Given the description of an element on the screen output the (x, y) to click on. 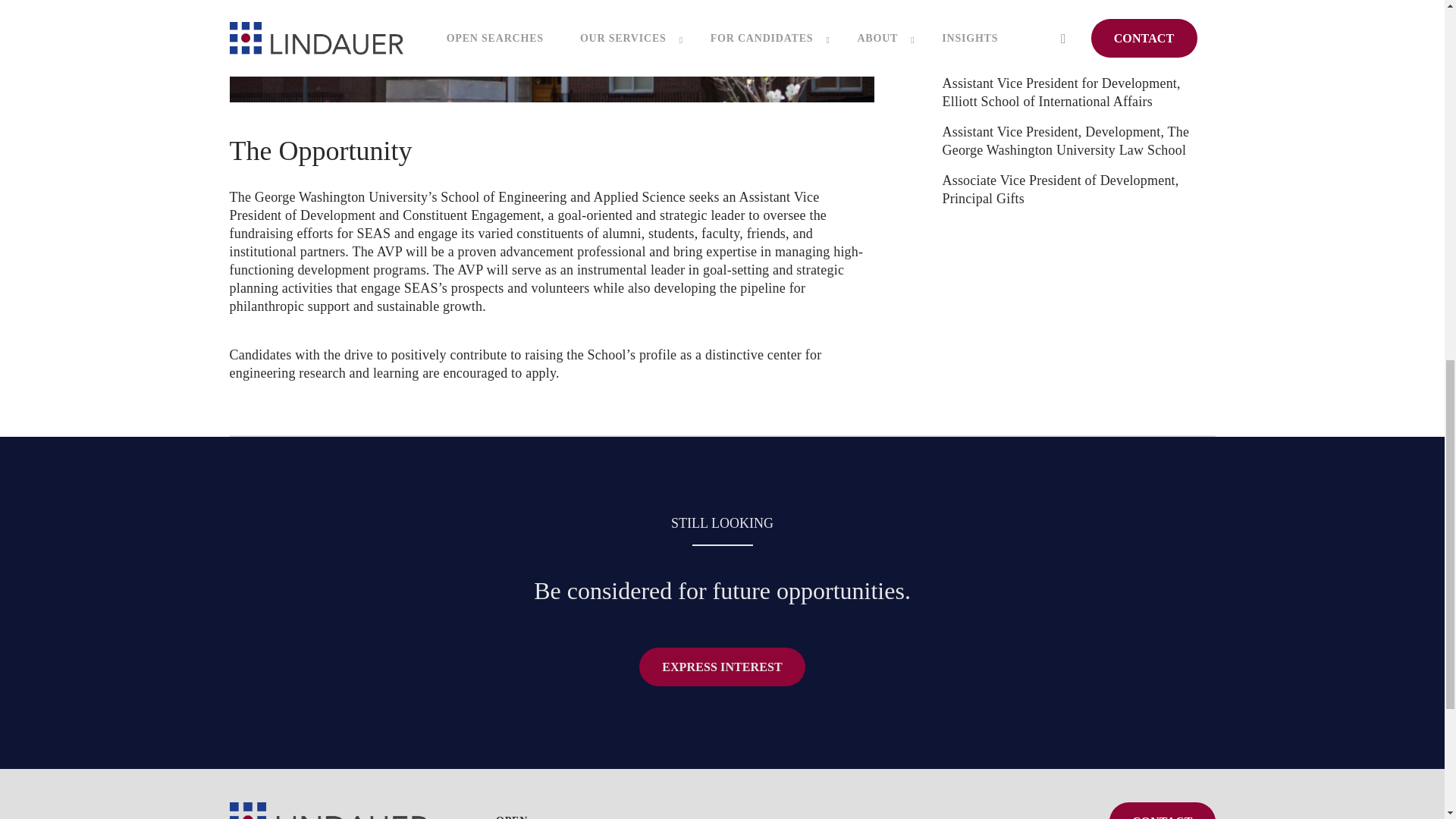
EXPRESS INTEREST (722, 666)
Lindauer Logo (327, 810)
OPEN SEARCHES (512, 816)
